Given the description of an element on the screen output the (x, y) to click on. 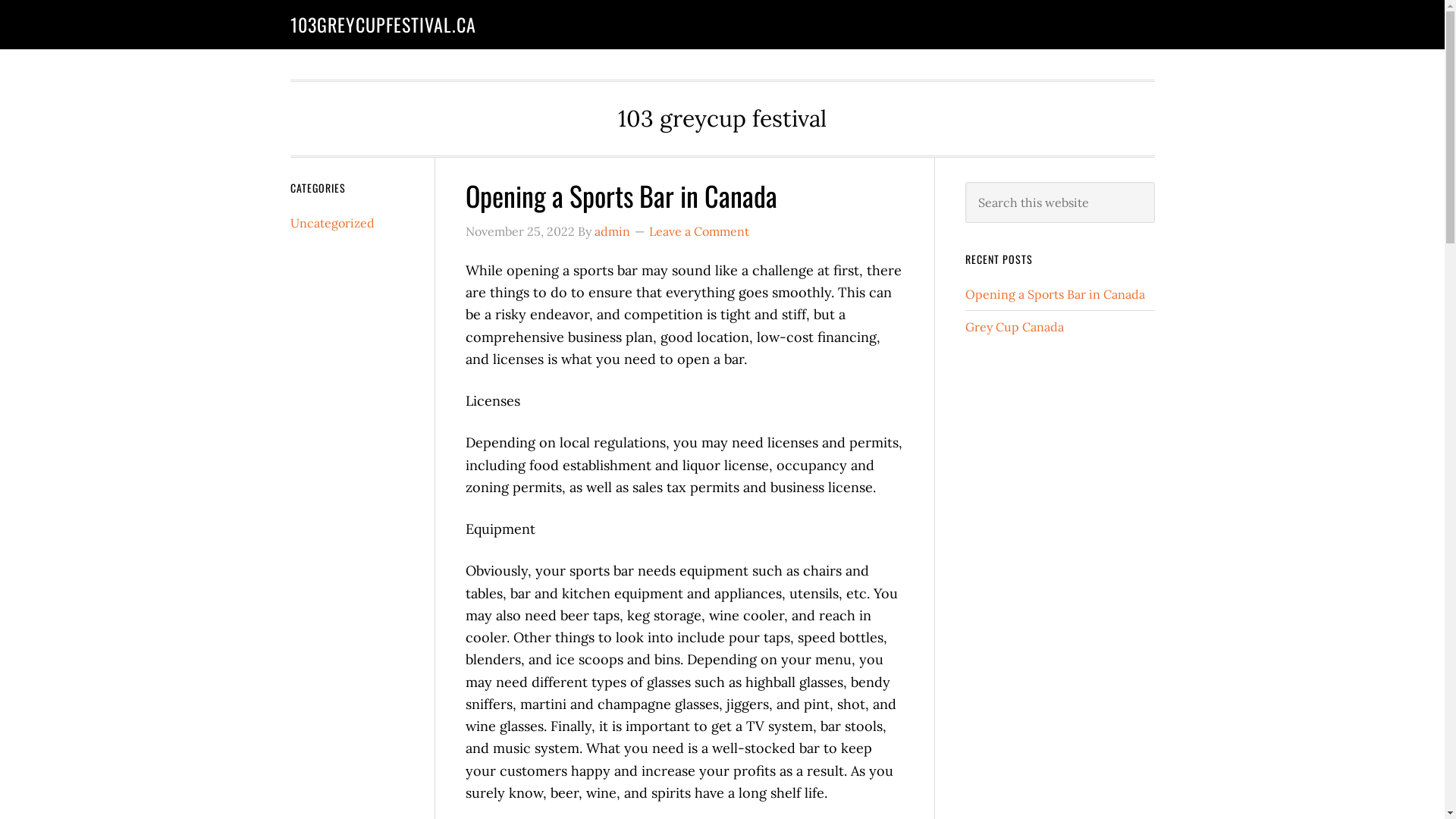
admin Element type: text (612, 230)
Search Element type: text (1154, 181)
Uncategorized Element type: text (331, 222)
Opening a Sports Bar in Canada Element type: text (1054, 293)
Leave a Comment Element type: text (699, 230)
Grey Cup Canada Element type: text (1013, 326)
Skip to main content Element type: text (0, 0)
103GREYCUPFESTIVAL.CA Element type: text (382, 23)
Opening a Sports Bar in Canada Element type: text (621, 195)
